Given the description of an element on the screen output the (x, y) to click on. 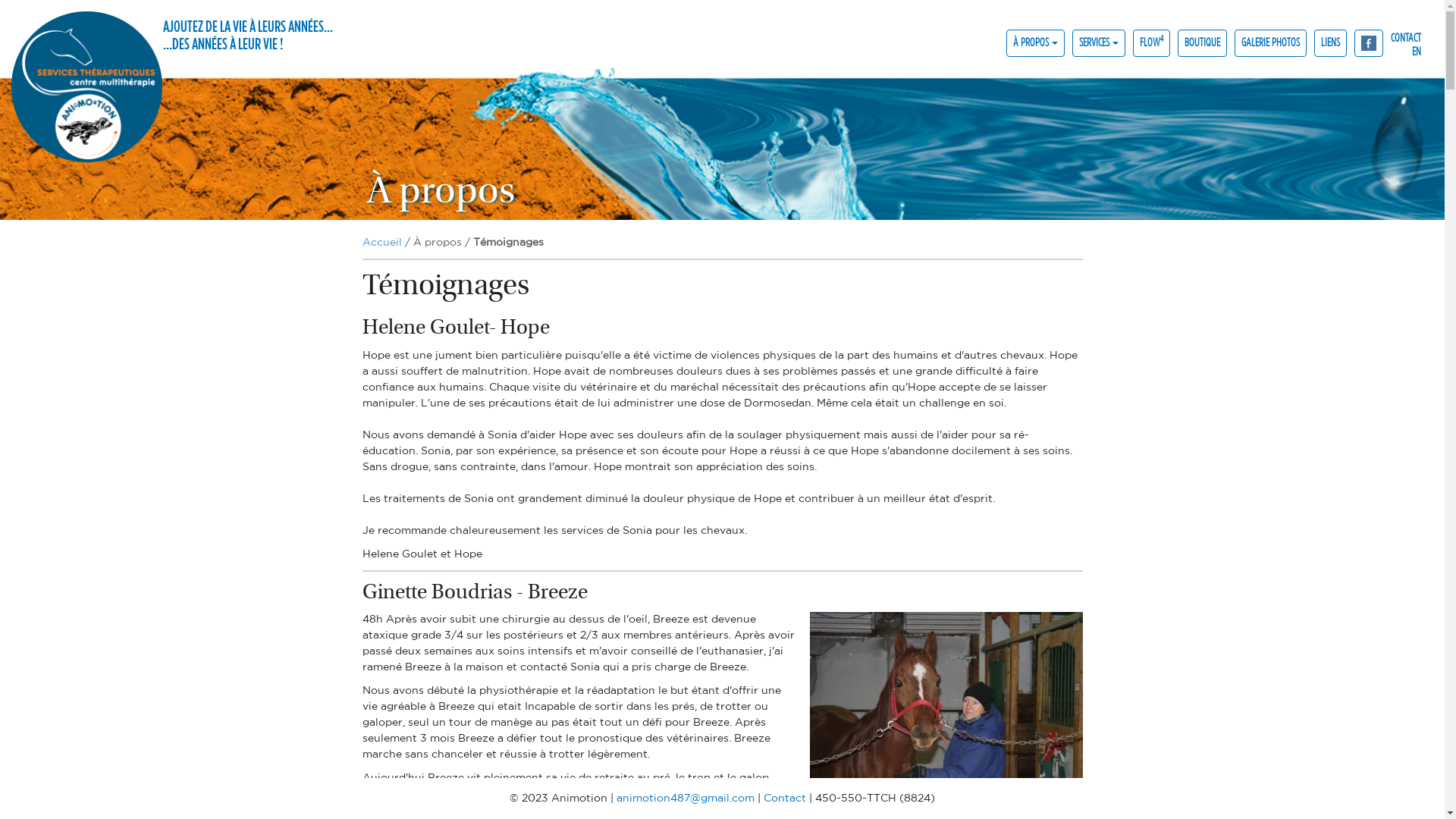
FLOW4 Element type: text (1151, 42)
EN Element type: text (1405, 49)
Contact Element type: text (784, 798)
SERVICES Element type: text (1098, 42)
Accueil Element type: text (381, 242)
animotion487@gmail.com Element type: text (685, 798)
LIENS Element type: text (1330, 42)
GALERIE PHOTOS Element type: text (1270, 42)
BOUTIQUE Element type: text (1202, 42)
CONTACT Element type: text (1405, 36)
